Given the description of an element on the screen output the (x, y) to click on. 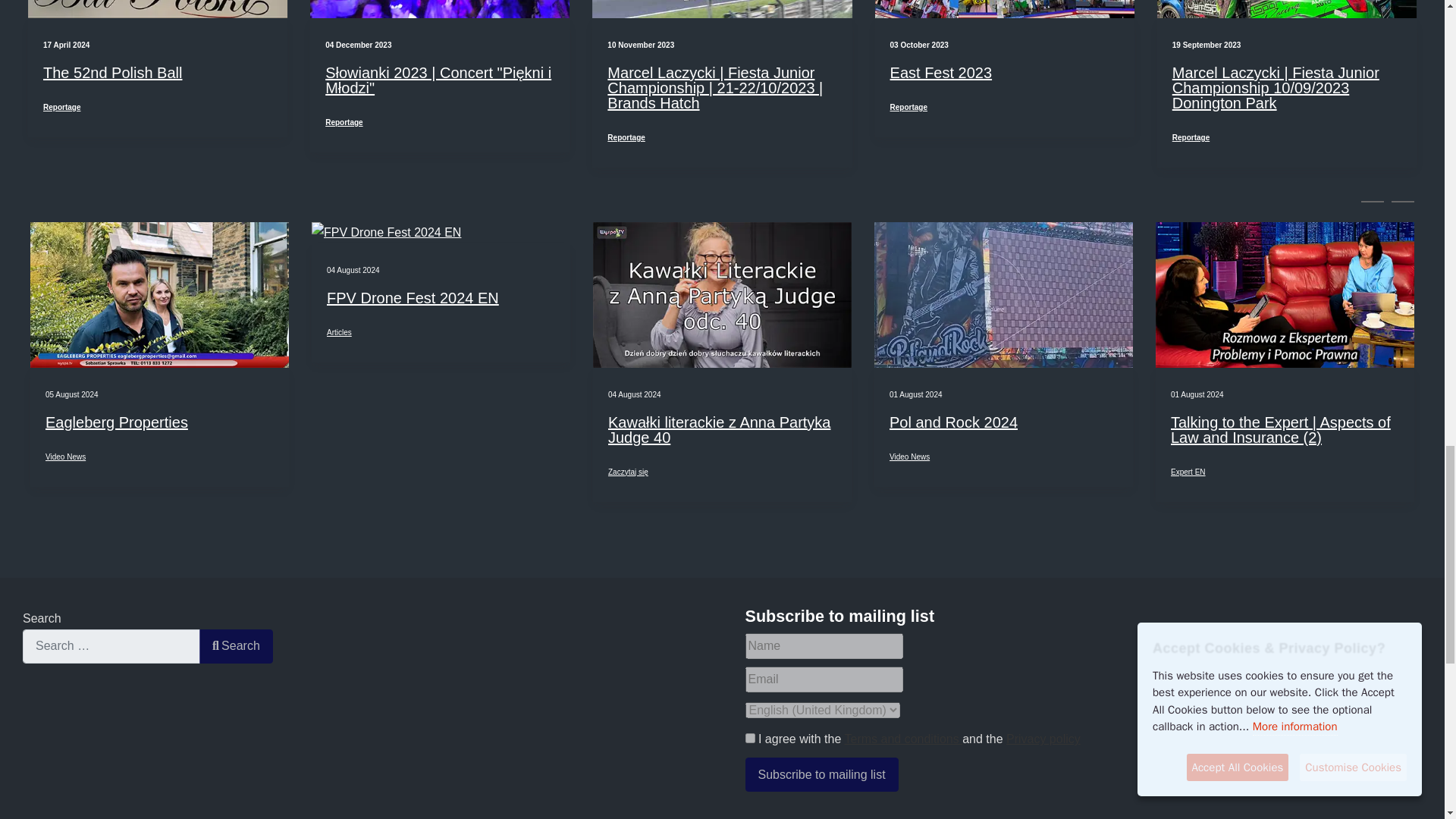
on (749, 737)
Subscribe to mailing list (821, 774)
Terms and conditions (749, 737)
